Given the description of an element on the screen output the (x, y) to click on. 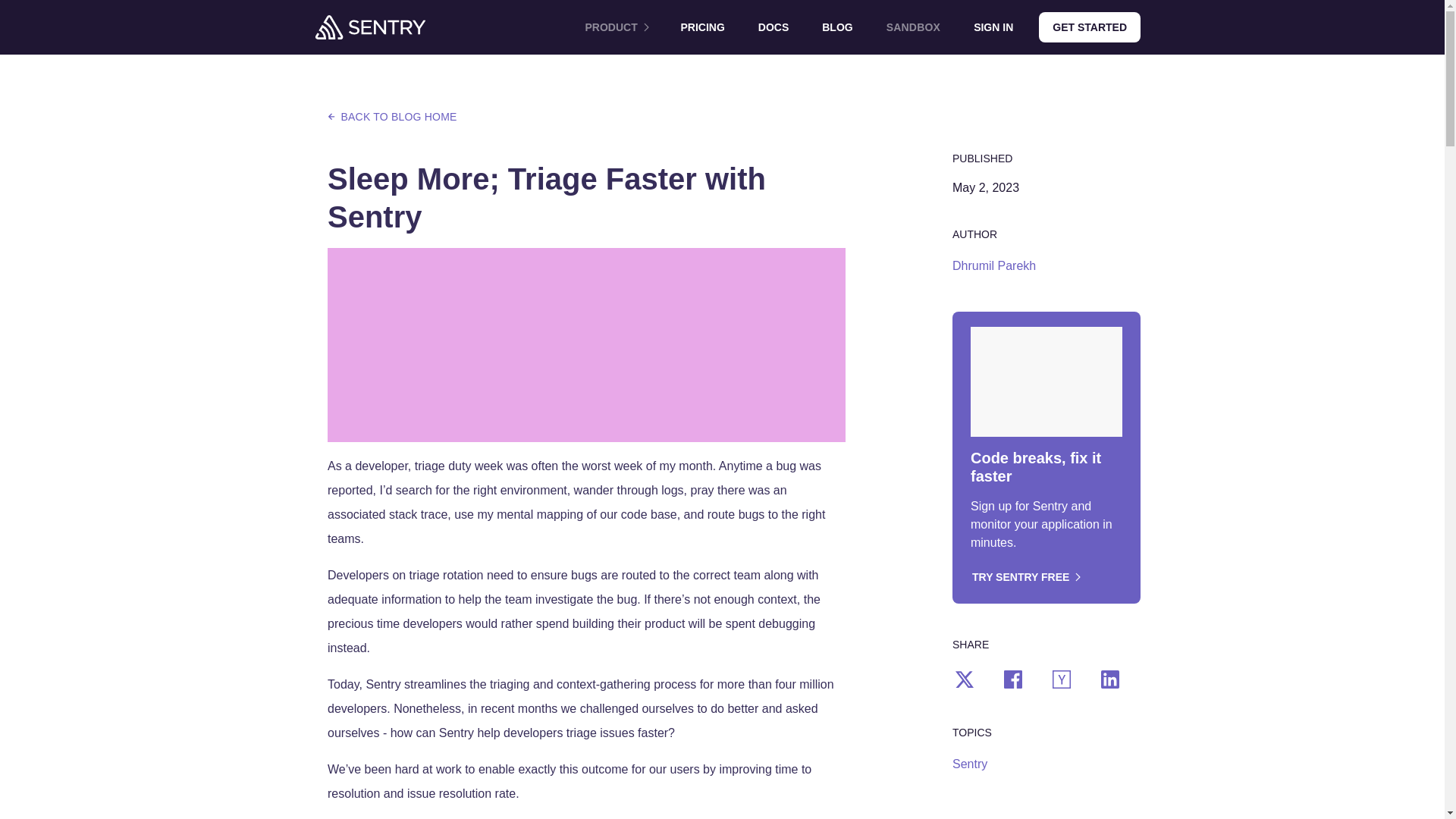
BLOG (837, 27)
PRICING (702, 27)
DOCS (773, 27)
SANDBOX (912, 27)
PRODUCT (615, 27)
